Given the description of an element on the screen output the (x, y) to click on. 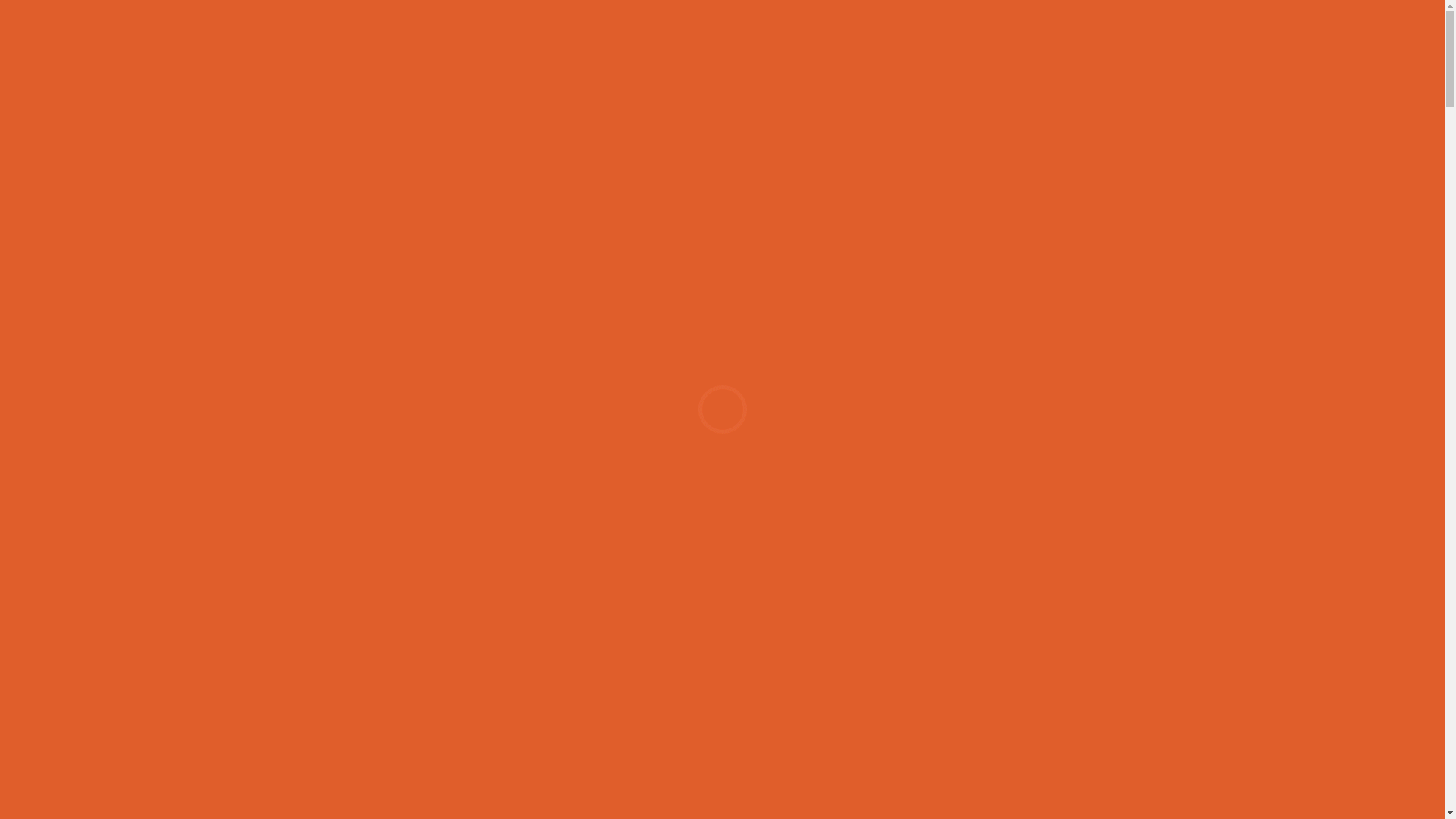
management team Element type: text (749, 48)
accreditation Element type: text (1022, 48)
projects Element type: text (850, 48)
careers Element type: text (1103, 48)
what we do Element type: text (550, 48)
who we are Element type: text (638, 48)
Read More Element type: text (305, 760)
Read More Element type: text (1383, 760)
contact Element type: text (1166, 48)
Read More Element type: text (1042, 760)
recognition Element type: text (929, 48)
Read More Element type: text (682, 760)
